Given the description of an element on the screen output the (x, y) to click on. 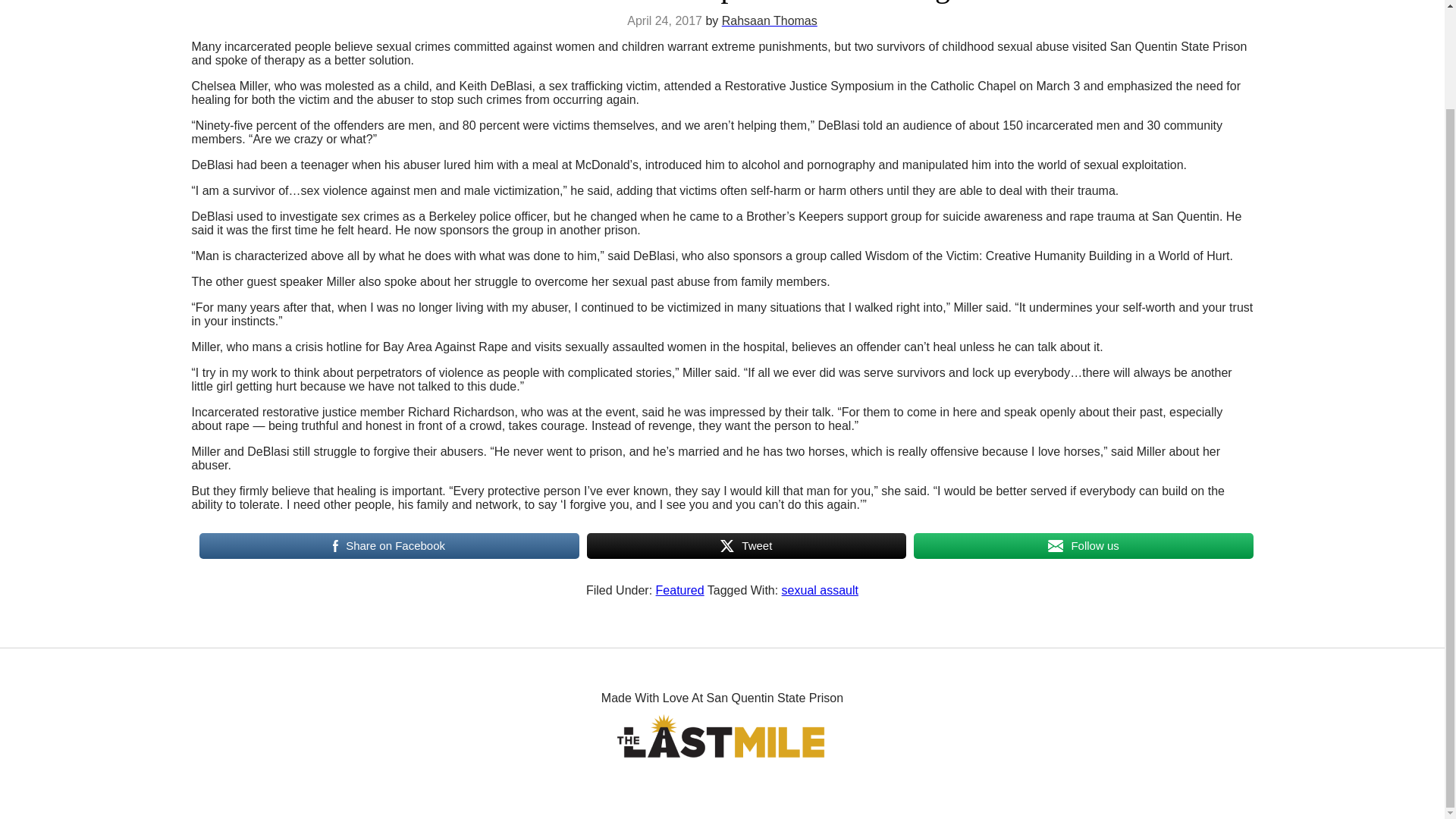
Share on Facebook (388, 545)
Featured (680, 590)
Rahsaan Thomas (769, 20)
Tweet (745, 545)
sexual assault (820, 590)
Follow us (1083, 545)
